Given the description of an element on the screen output the (x, y) to click on. 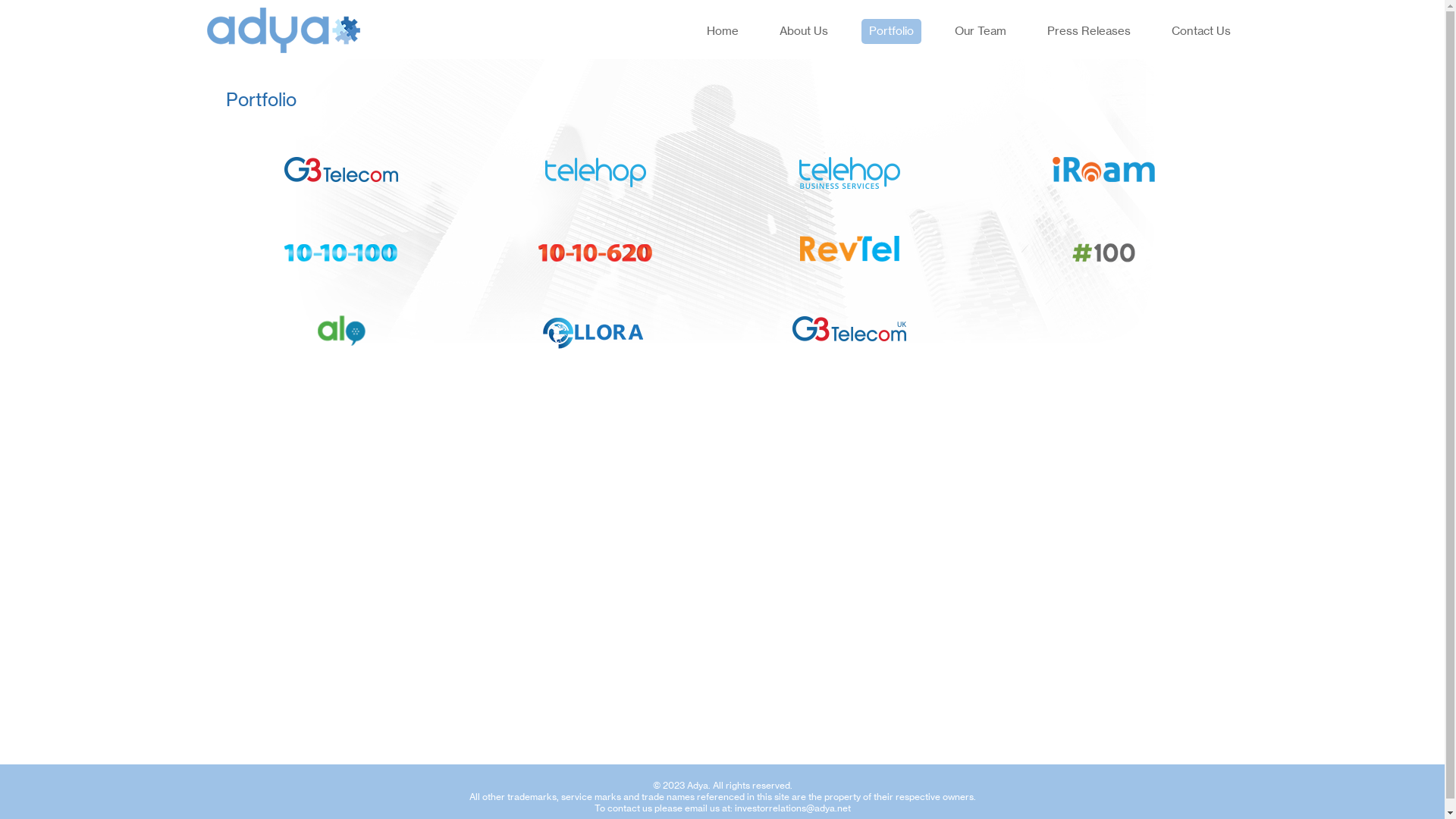
Click Here Element type: text (318, 238)
About Us Element type: text (803, 30)
Home Element type: text (722, 30)
Click Here Element type: text (852, 238)
Contact Us Element type: text (1200, 30)
Click Here Element type: text (1040, 158)
Click Here Element type: text (604, 150)
Portfolio Element type: text (891, 30)
Click Here Element type: text (350, 150)
1010620.com Element type: hover (595, 252)
Click Here Element type: text (849, 325)
Press Releases Element type: text (1087, 30)
Click Here Element type: text (618, 301)
Our Team Element type: text (979, 30)
pound100.Com Element type: hover (1103, 252)
Click Here Element type: text (814, 158)
investorrelations@adya.net Element type: text (792, 807)
g3telecom.co.uk Element type: hover (849, 331)
Ellora Telecom Philippines - BPO Element type: hover (595, 331)
Telehop.com Element type: hover (595, 172)
Revtel 1010738.ca Element type: hover (849, 252)
Click Here Element type: text (344, 317)
Telehop.biz Element type: hover (849, 172)
G3Telecom.com Element type: hover (341, 172)
1010100.com Element type: hover (341, 252)
Click Here Element type: text (599, 230)
1010alo.ca Element type: hover (341, 331)
Click Here Element type: text (1113, 214)
iRoam.Com Element type: hover (1103, 172)
